Given the description of an element on the screen output the (x, y) to click on. 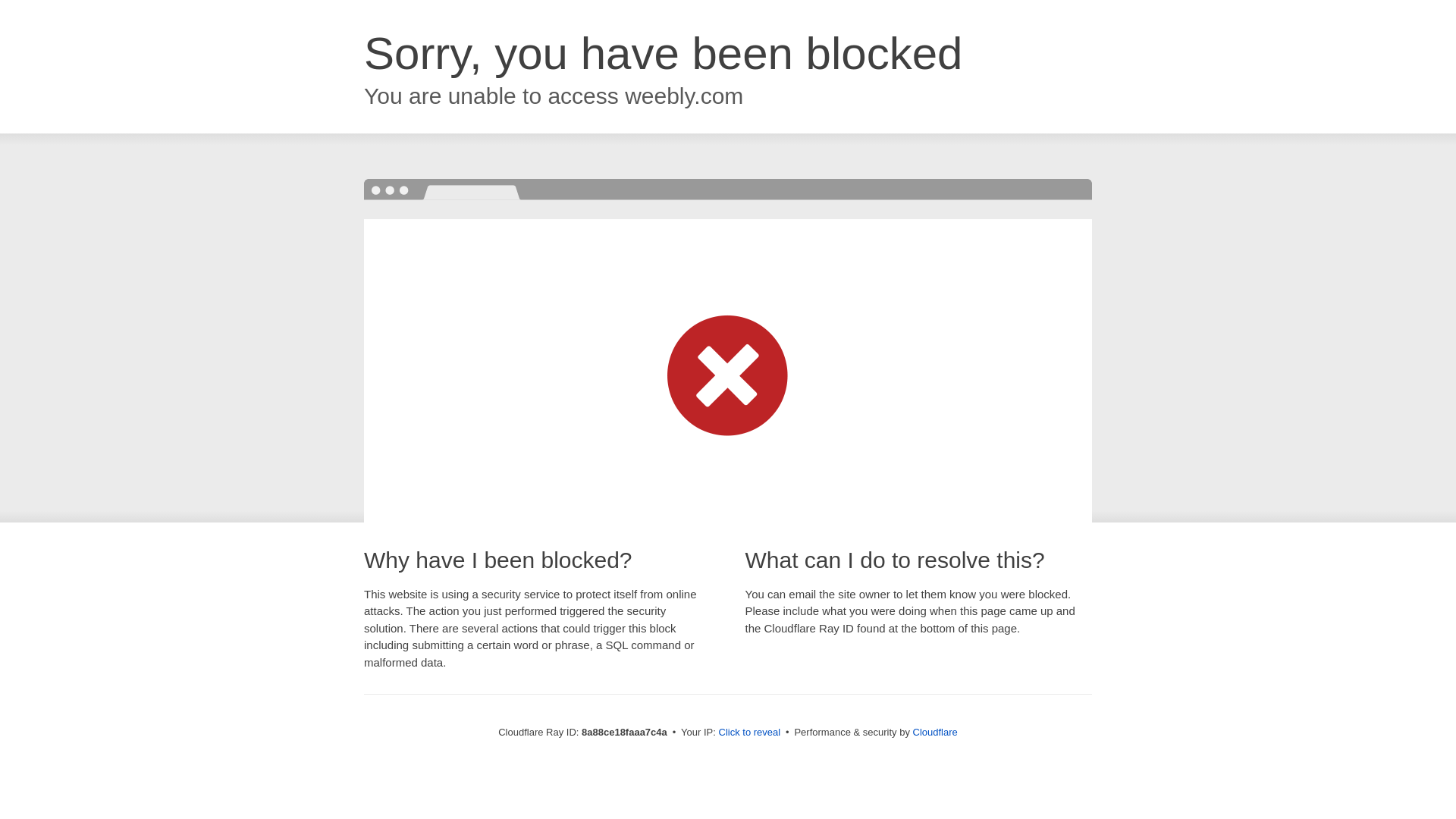
Click to reveal (749, 732)
Cloudflare (935, 731)
